Given the description of an element on the screen output the (x, y) to click on. 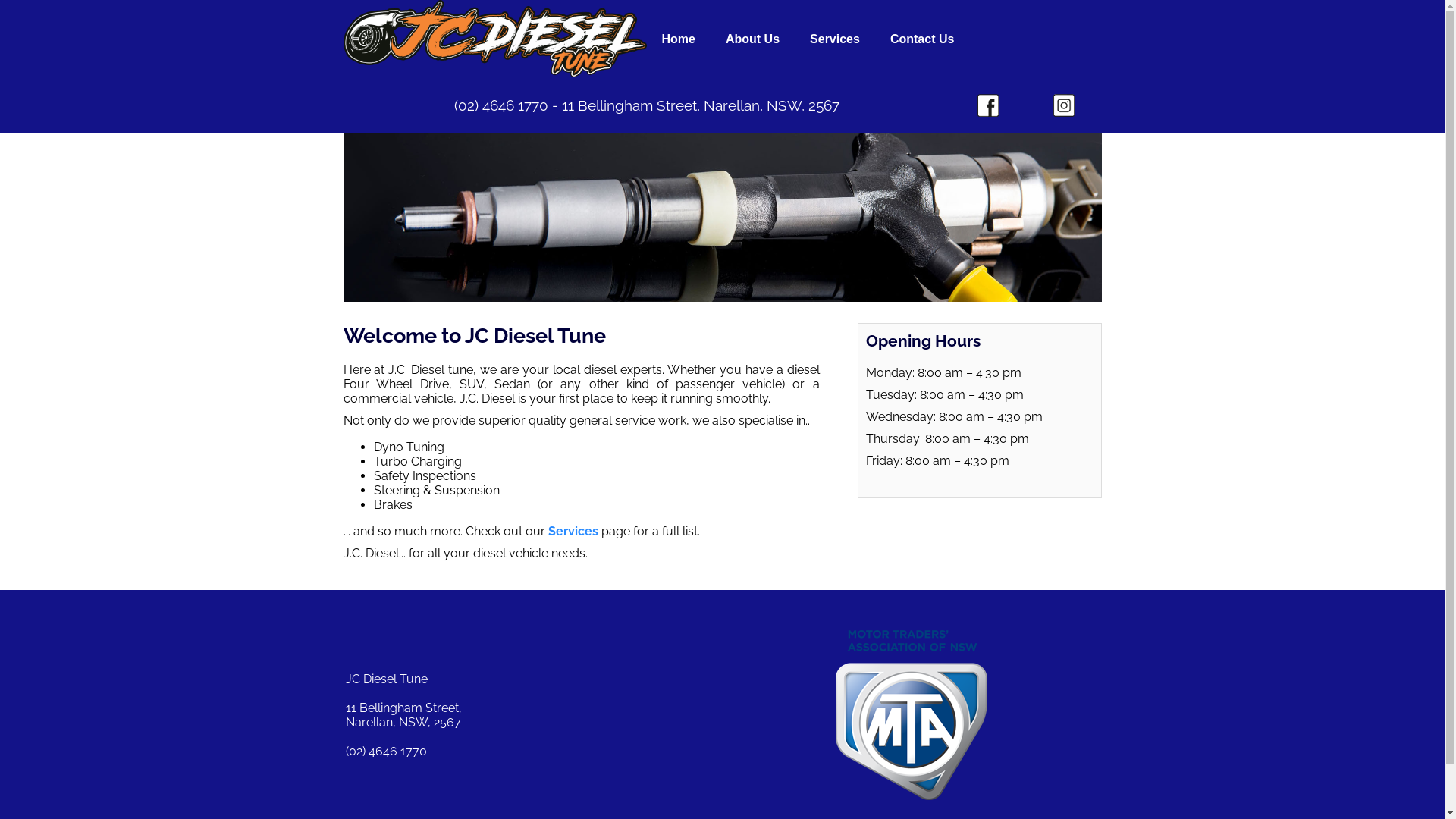
Home Element type: hover (911, 715)
Like us on Facebook Element type: hover (987, 105)
JC Diesel Tune  Element type: hover (494, 38)
Services Element type: text (572, 531)
About Us Element type: text (752, 39)
Follow us on Instagram Element type: hover (1063, 105)
Home Element type: text (677, 39)
Contact Us Element type: text (922, 39)
Services Element type: text (834, 39)
